Given the description of an element on the screen output the (x, y) to click on. 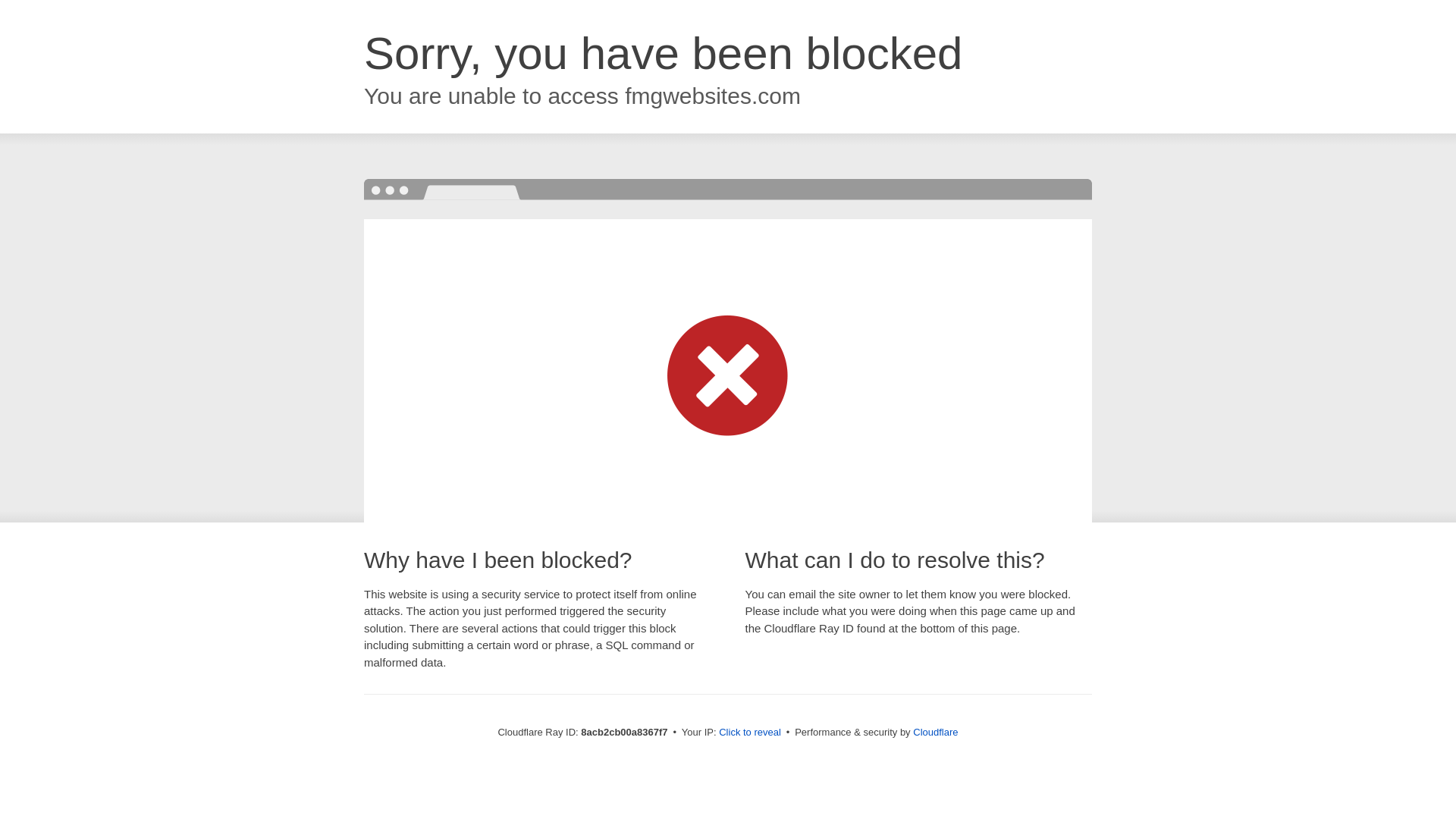
Cloudflare (935, 731)
Click to reveal (749, 732)
